Given the description of an element on the screen output the (x, y) to click on. 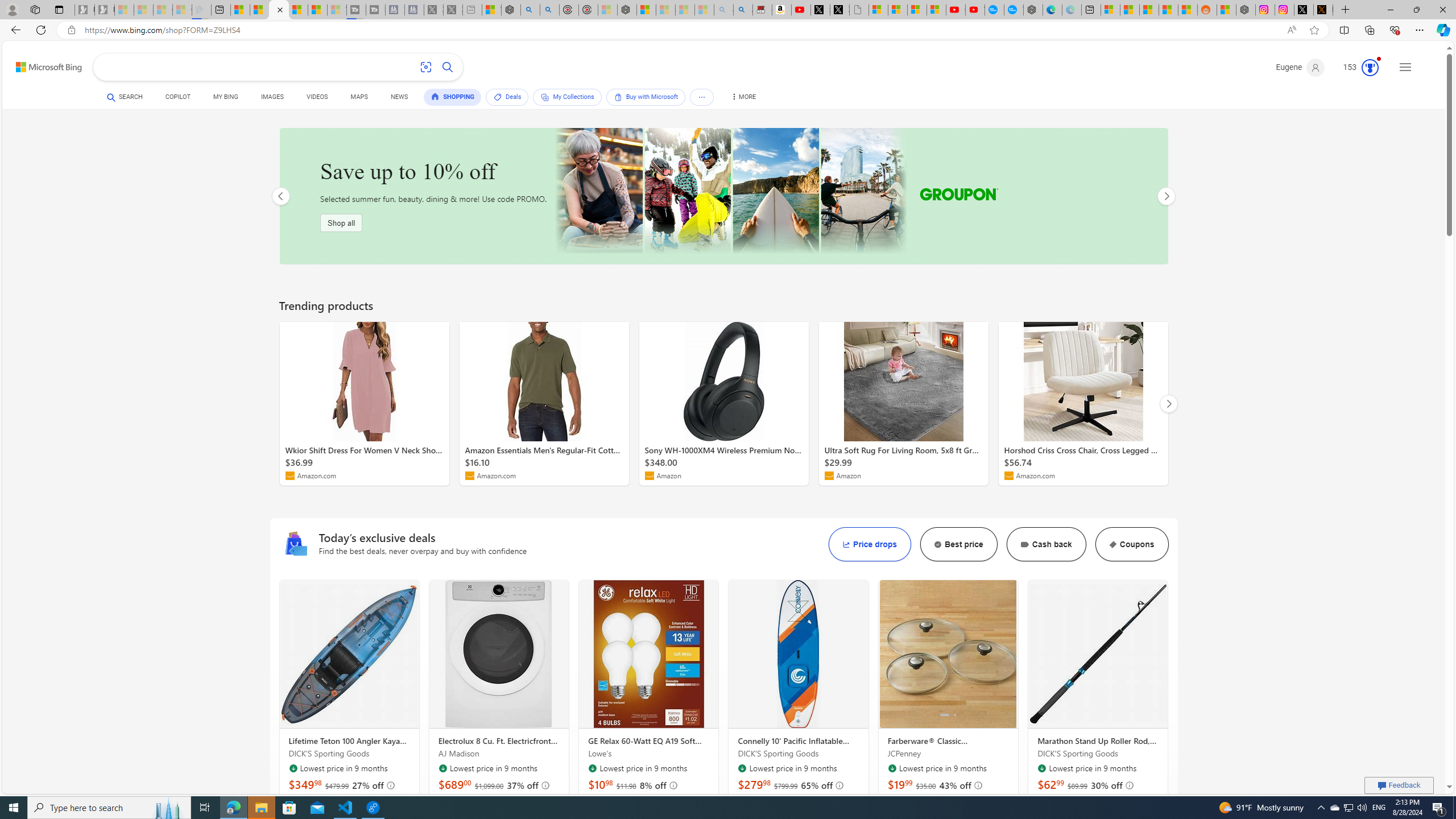
Add this page to favorites (Ctrl+D) (1314, 29)
The most popular Google 'how to' searches (1012, 9)
Lowest price in 9 months (1041, 768)
sh-button-icon Cash back (1046, 544)
Buy with Microsoft (645, 96)
Personal Profile (12, 9)
Class: medal-circled (1369, 67)
Restore (1416, 9)
Electrolux 8 Cu. Ft. Electricfront Load Dryer EFDE317TIW (498, 653)
My Collections (566, 96)
